Given the description of an element on the screen output the (x, y) to click on. 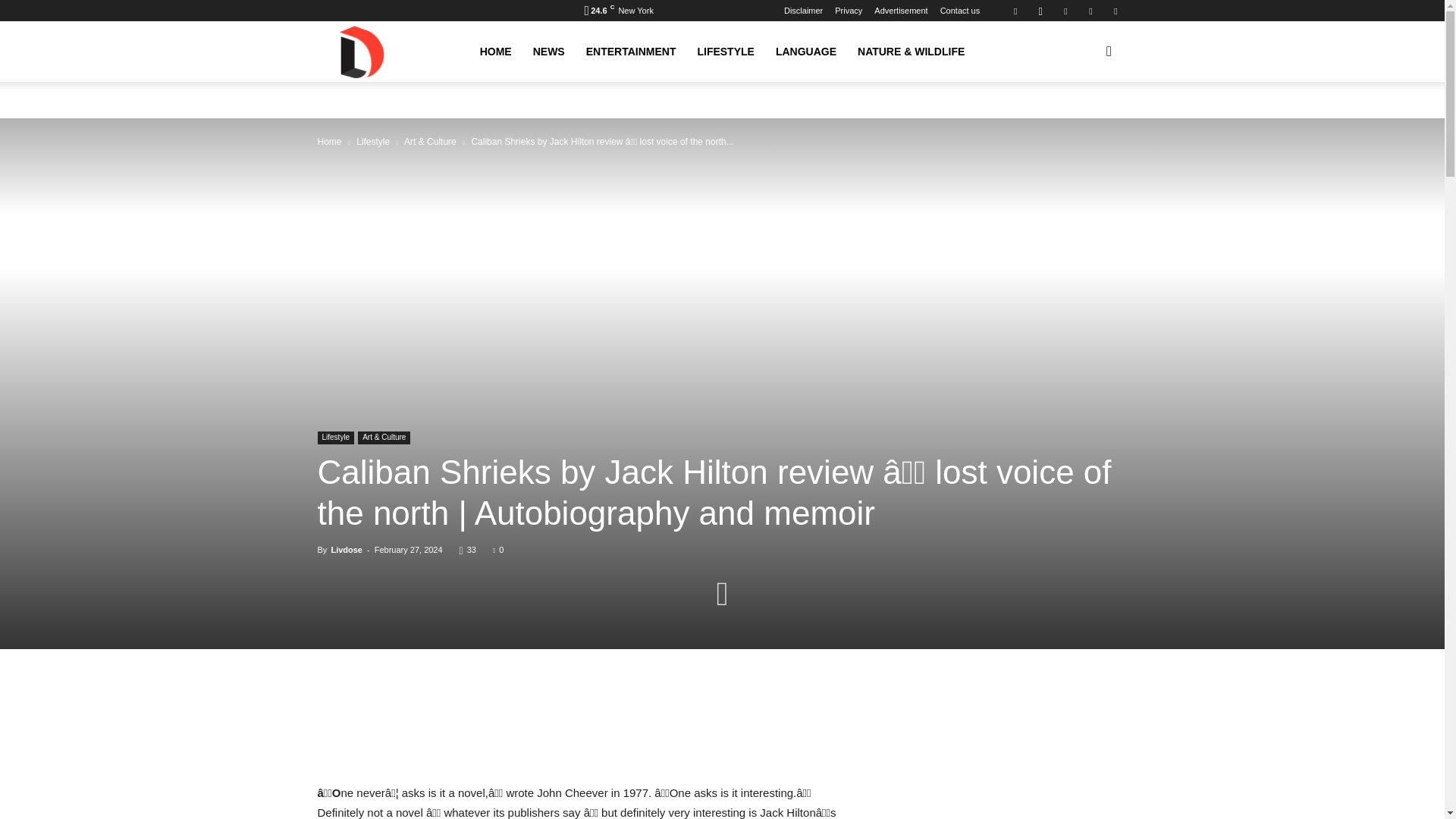
Vimeo (1090, 10)
Disclaimer (803, 10)
Contact us (959, 10)
Facebook (1015, 10)
Privacy (847, 10)
Advertisement (901, 10)
Youtube (1114, 10)
Instagram (1040, 10)
Twitter (1065, 10)
